Given the description of an element on the screen output the (x, y) to click on. 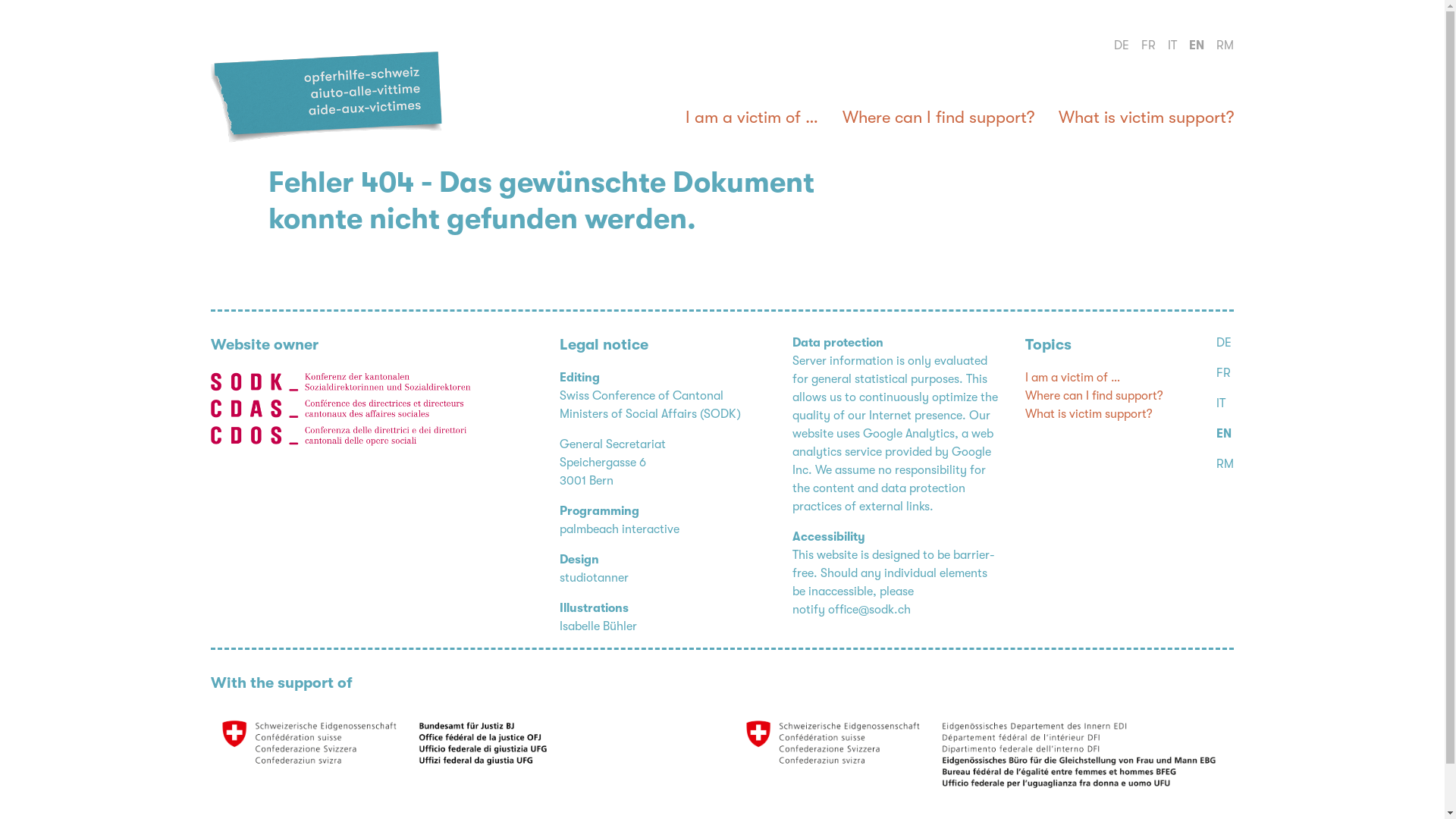
Where can I find support? Element type: text (938, 118)
Where can I find support? Element type: text (1094, 395)
IT Element type: text (1220, 403)
studiotanner Element type: text (593, 577)
RM Element type: text (1224, 45)
DE Element type: text (1223, 342)
palmbeach interactive Element type: text (619, 529)
EN Element type: text (1196, 45)
EN Element type: text (1223, 433)
What is victim support? Element type: text (1088, 413)
DE Element type: text (1121, 45)
IT Element type: text (1171, 45)
RM Element type: text (1224, 463)
FR Element type: text (1223, 372)
office@sodk.ch Element type: text (869, 609)
FR Element type: text (1148, 45)
What is victim support? Element type: text (1145, 118)
